Given the description of an element on the screen output the (x, y) to click on. 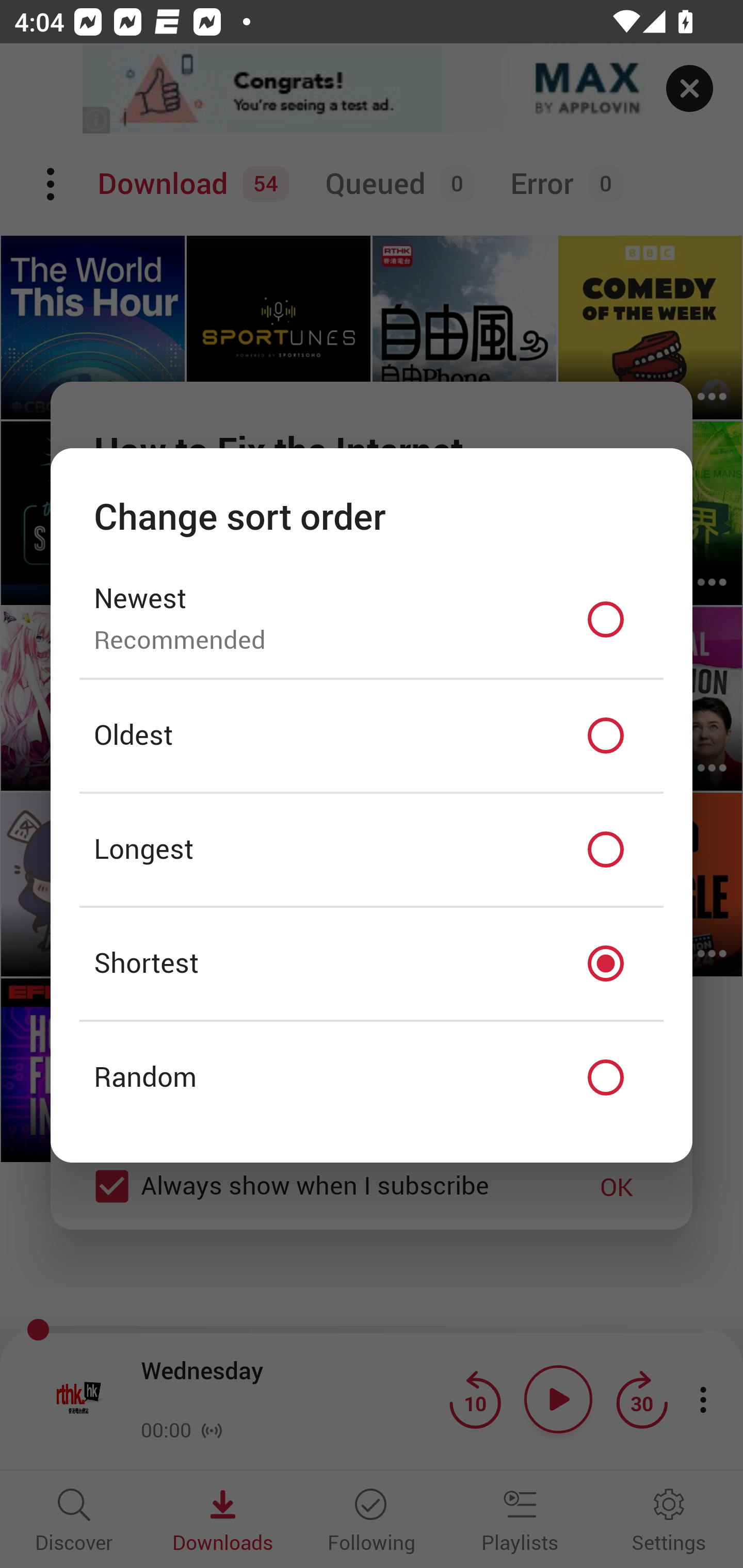
Newest Recommended (371, 619)
Oldest (371, 735)
Longest (371, 849)
Shortest (371, 963)
Random (371, 1077)
